Given the description of an element on the screen output the (x, y) to click on. 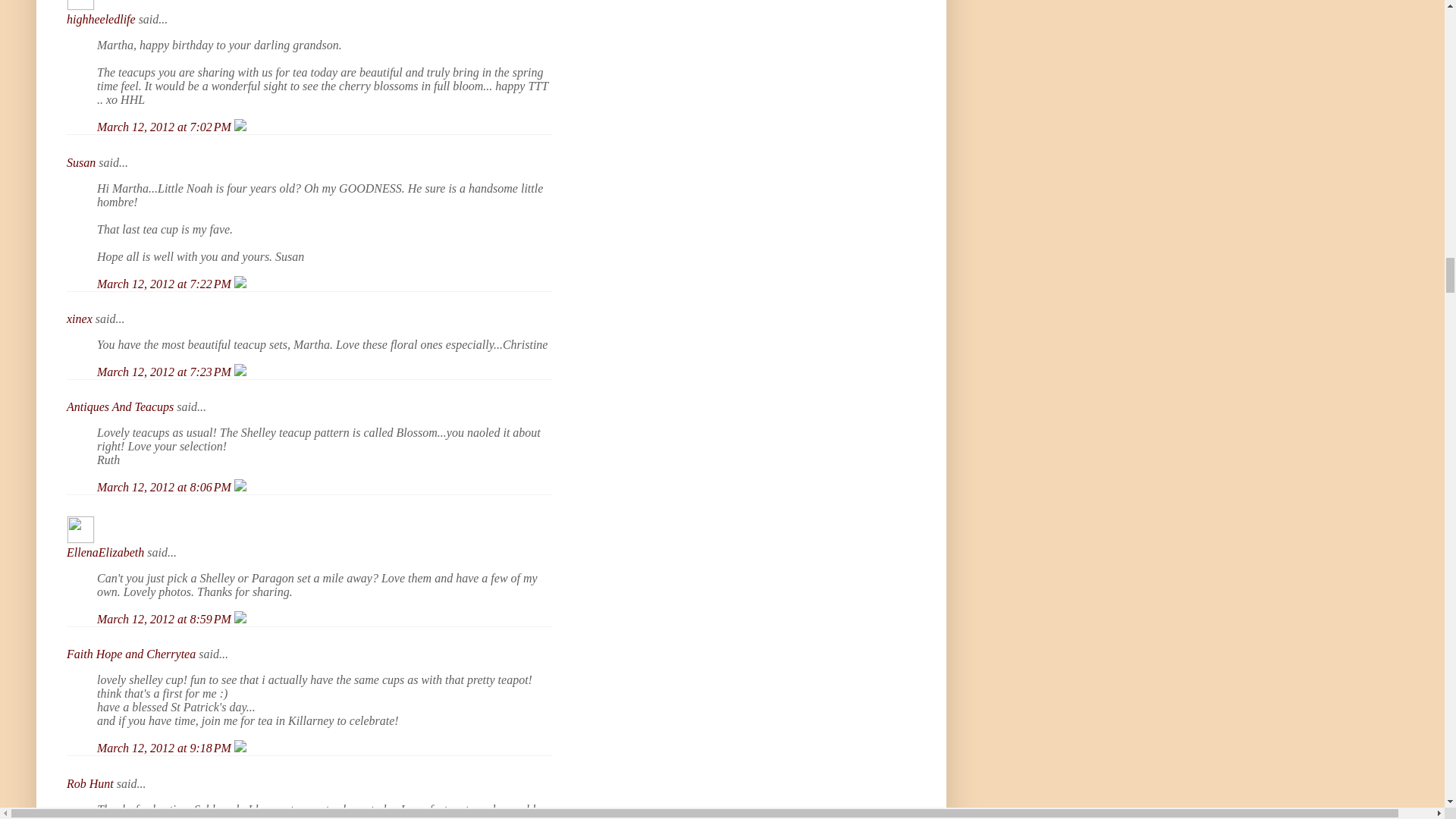
comment permalink (165, 126)
highheeledlife (100, 19)
highheeledlife (80, 5)
